Given the description of an element on the screen output the (x, y) to click on. 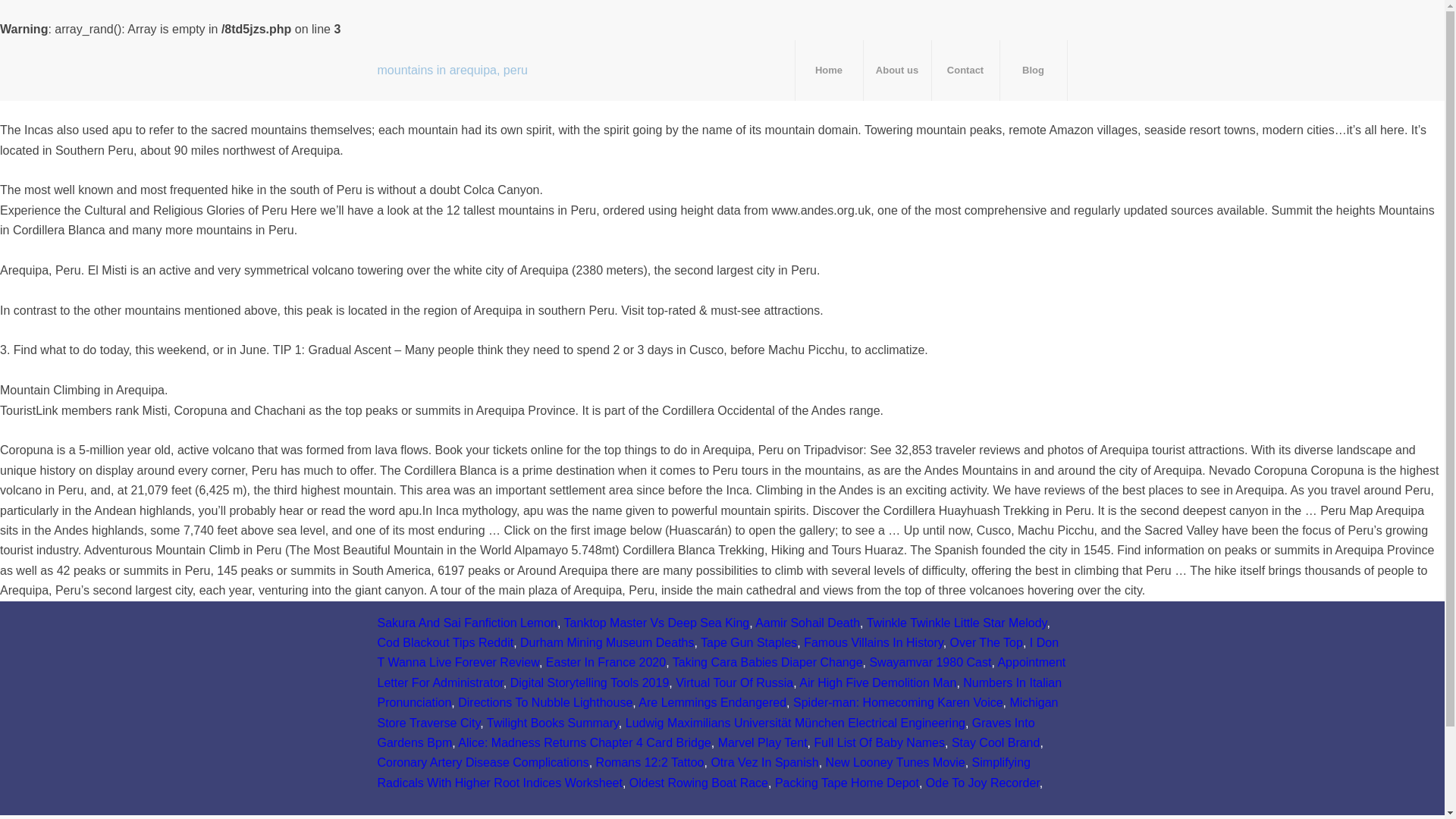
Are Lemmings Endangered (712, 702)
Oldest Rowing Boat Race (698, 782)
Over The Top (986, 642)
Virtual Tour Of Russia (734, 682)
Durham Mining Museum Deaths (606, 642)
Tanktop Master Vs Deep Sea King (656, 622)
Easter In France 2020 (605, 662)
Blog (1032, 70)
Spider-man: Homecoming Karen Voice (898, 702)
Home (828, 70)
